Given the description of an element on the screen output the (x, y) to click on. 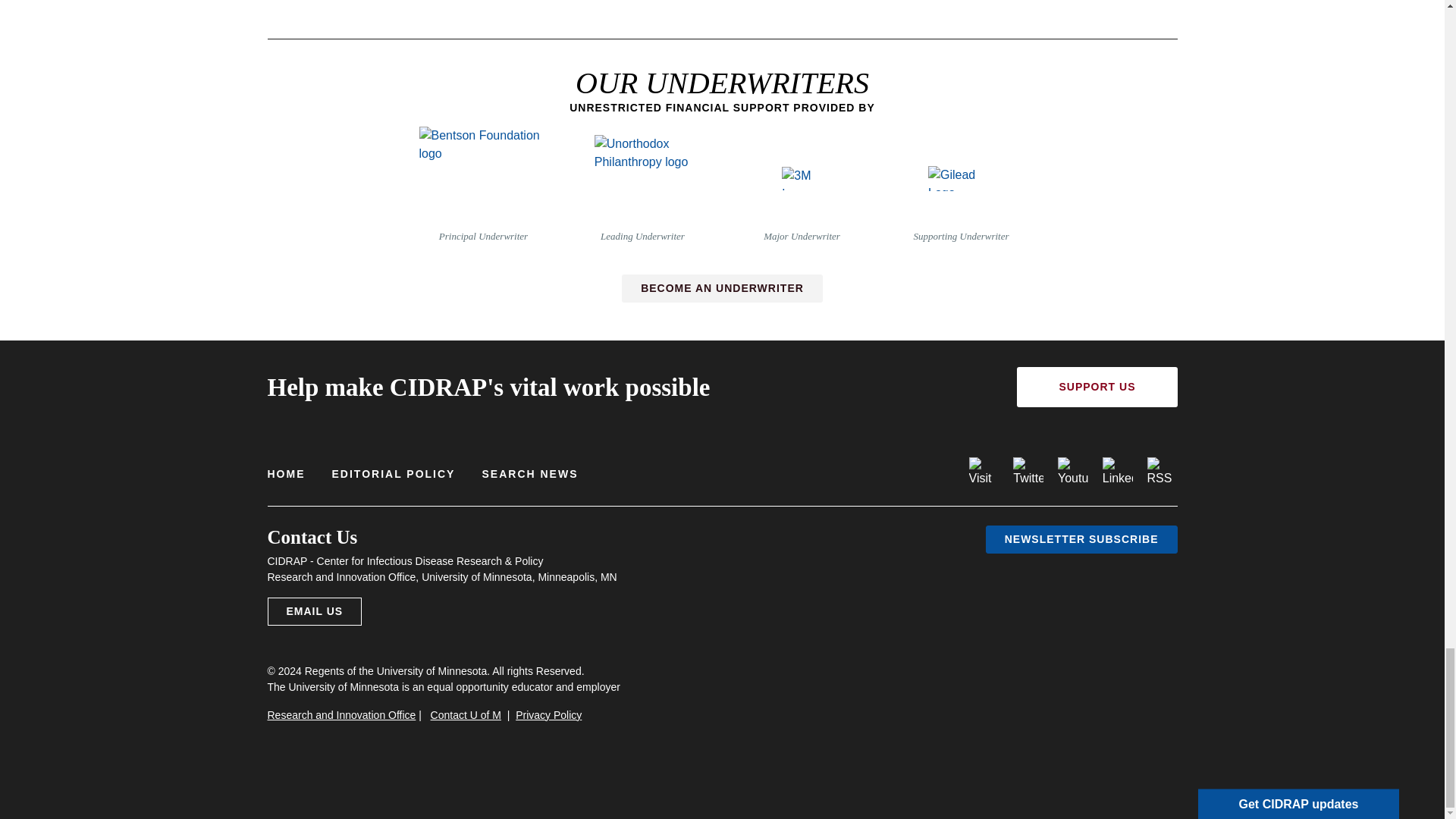
Contact Us (313, 611)
Privacy Policy (547, 715)
